Given the description of an element on the screen output the (x, y) to click on. 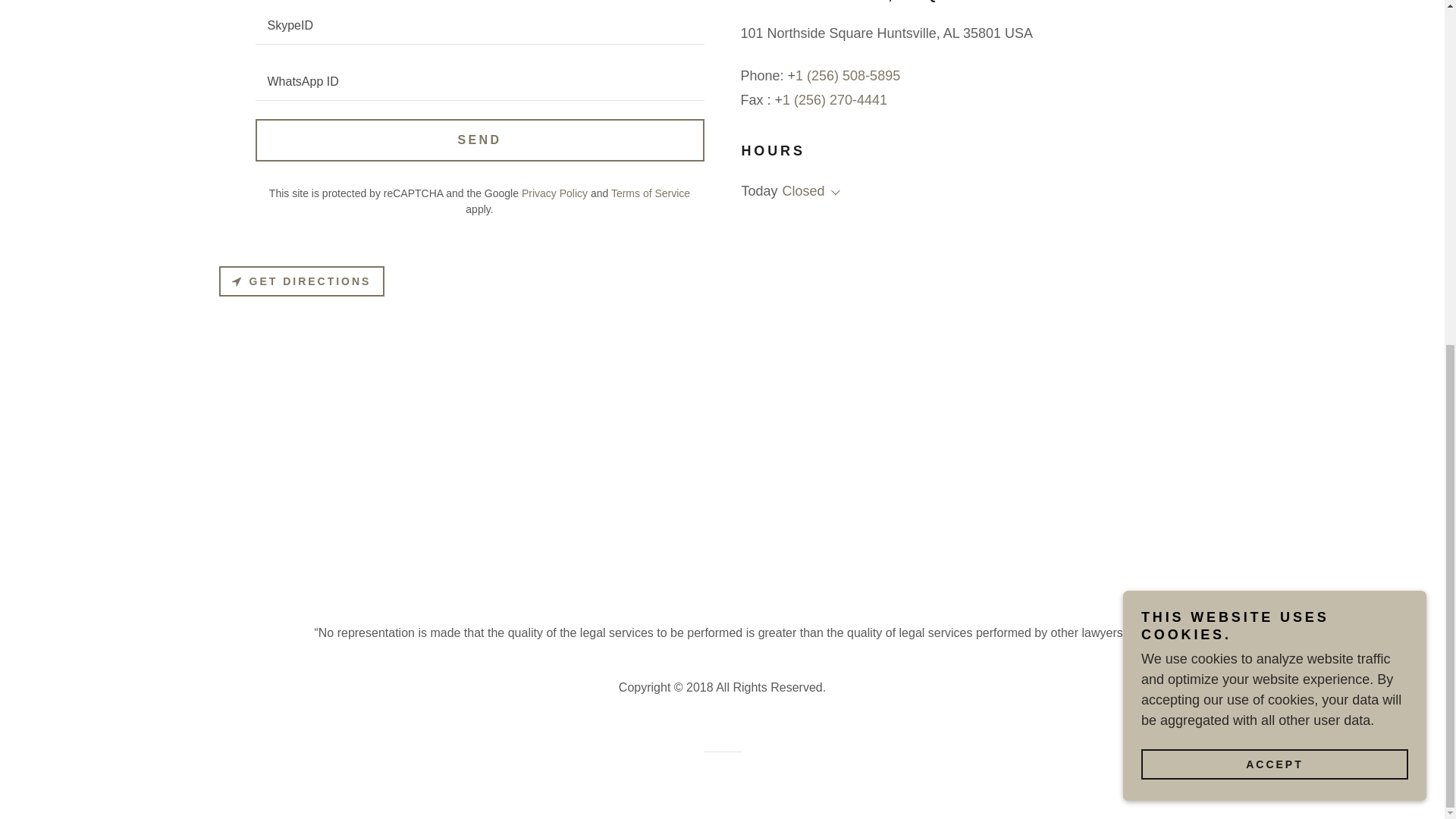
Terms of Service (650, 192)
SEND (478, 138)
GET DIRECTIONS (301, 280)
ACCEPT (1274, 173)
Privacy Policy (554, 192)
